Given the description of an element on the screen output the (x, y) to click on. 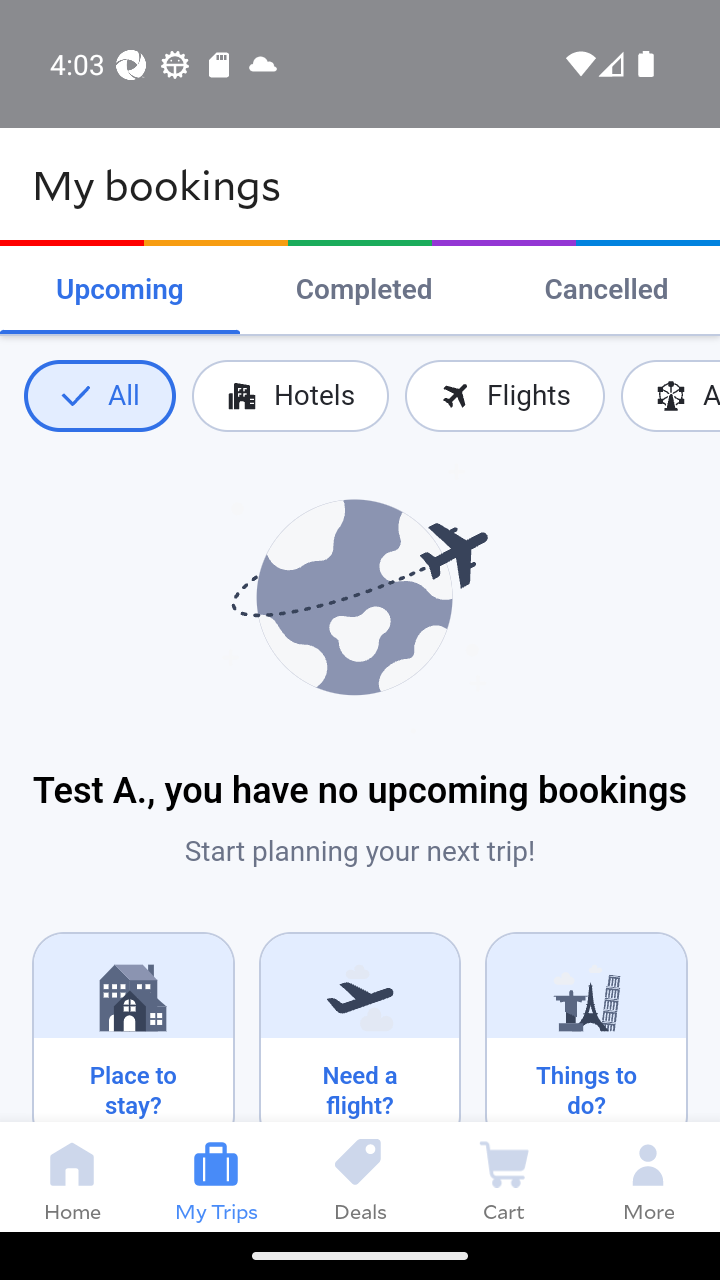
Upcoming (119, 289)
Completed (363, 289)
Cancelled (606, 289)
All (99, 395)
Hotels (290, 395)
Flights (504, 395)
Activities (669, 395)
Home (72, 1176)
My Trips (216, 1176)
Deals (360, 1176)
Cart (504, 1176)
More (648, 1176)
